Given the description of an element on the screen output the (x, y) to click on. 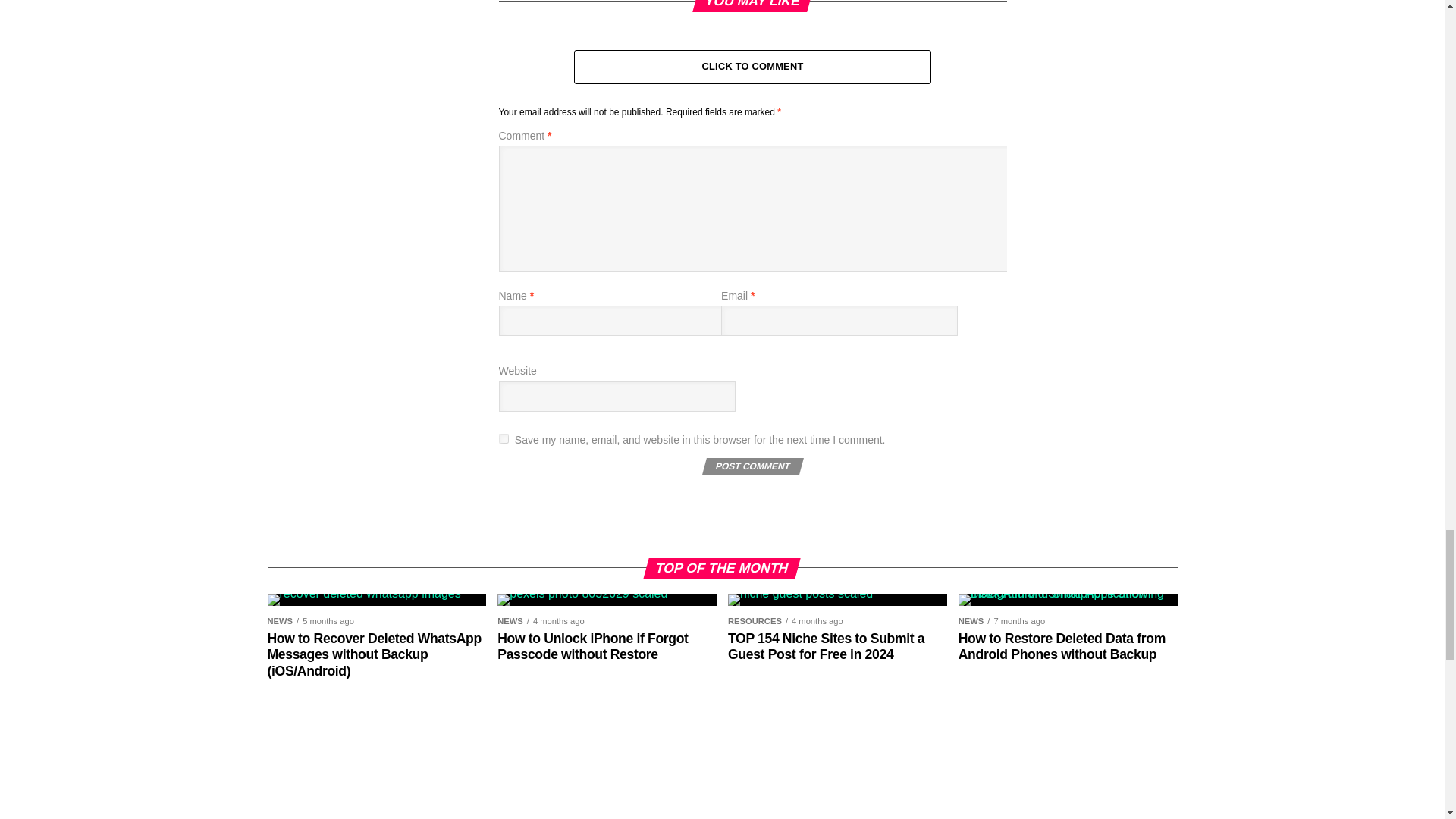
yes (503, 438)
Post Comment (750, 466)
